Given the description of an element on the screen output the (x, y) to click on. 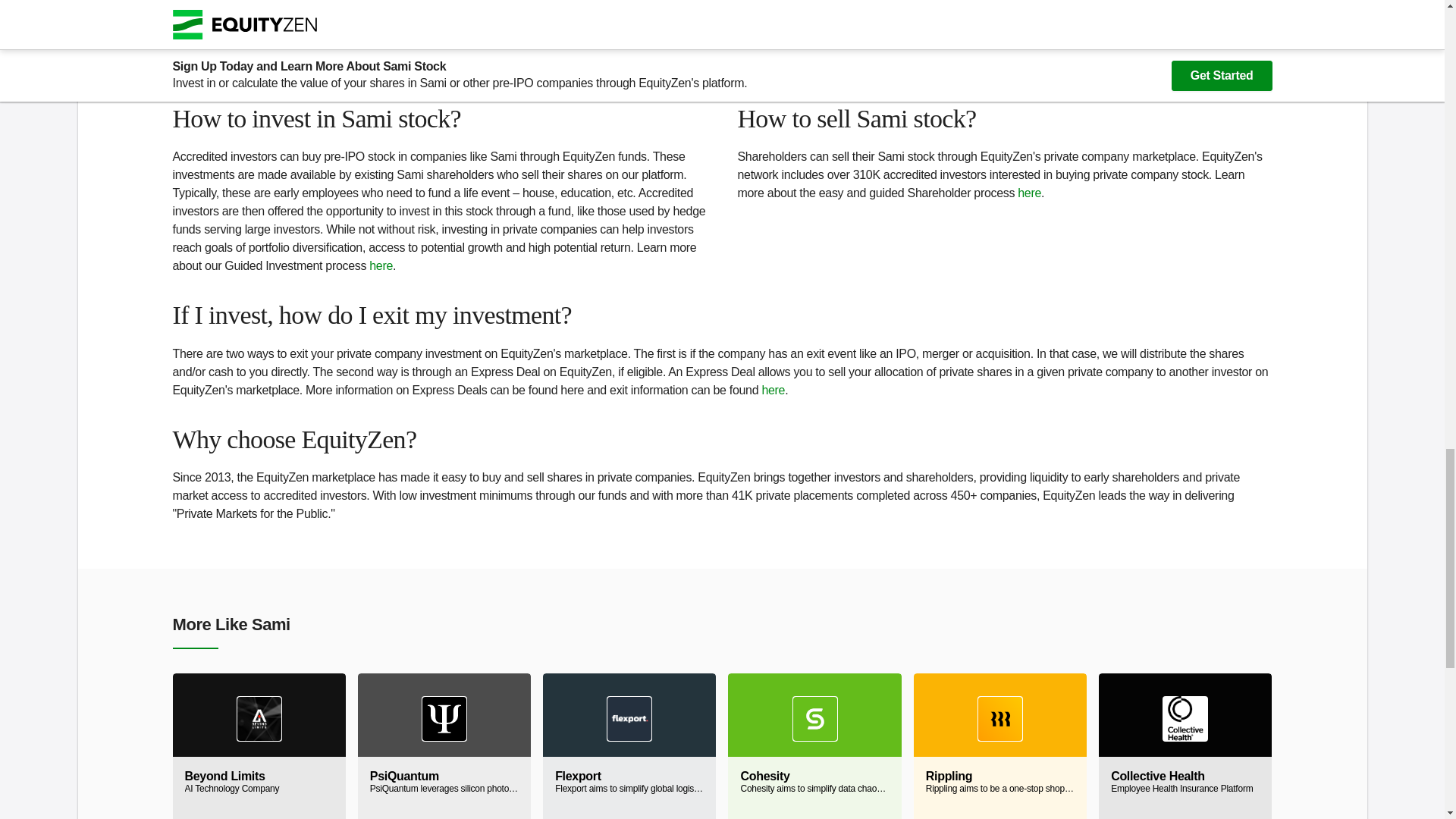
here (1185, 746)
here (1029, 192)
here (772, 390)
